Given the description of an element on the screen output the (x, y) to click on. 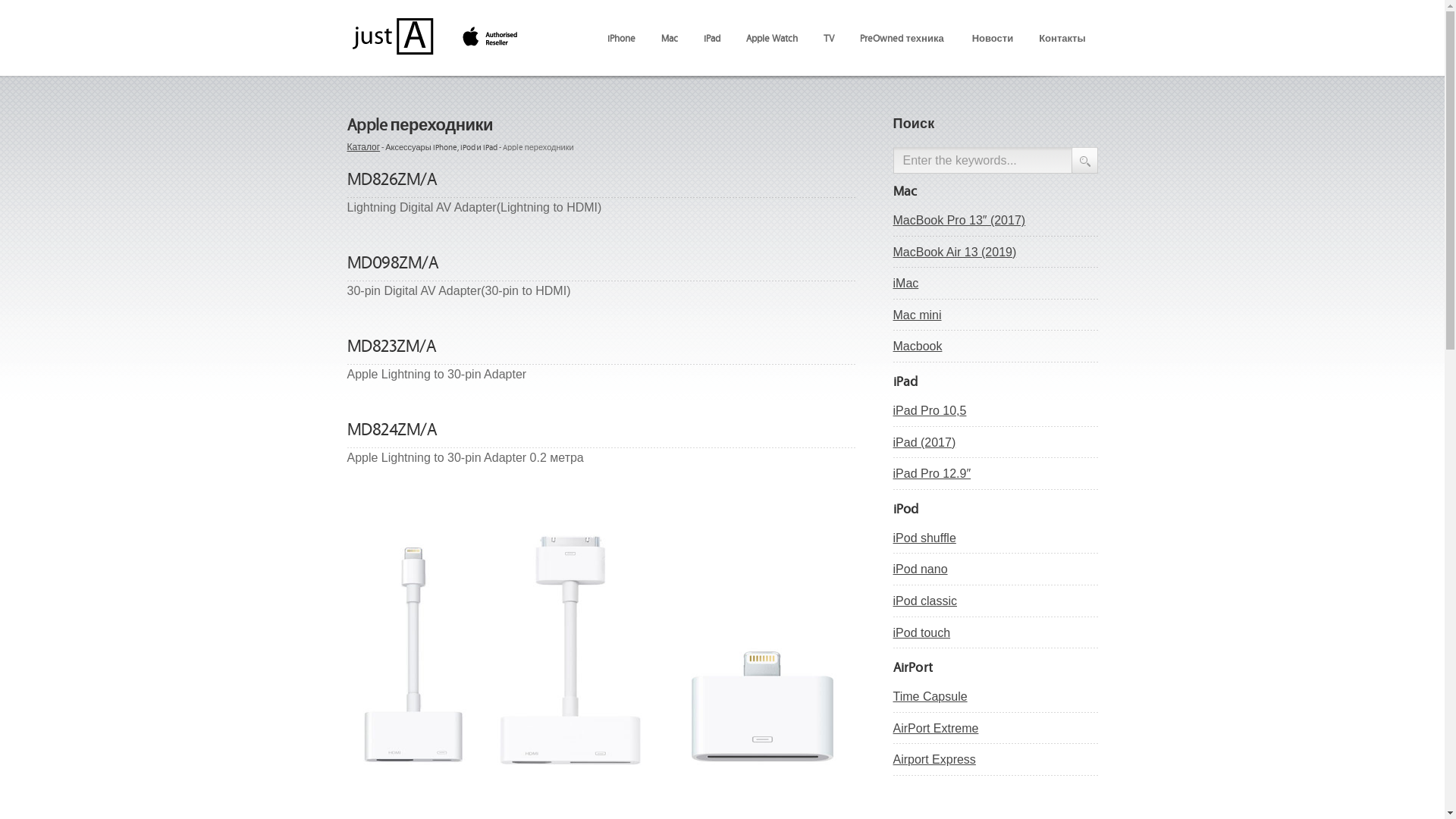
Time Capsule Element type: text (995, 696)
MacBook Air 13 (2019) Element type: text (995, 252)
iPod classic Element type: text (995, 601)
iPod nano Element type: text (995, 569)
iPad Pro 10,5 Element type: text (995, 410)
iPad (2017) Element type: text (995, 442)
iPod shuffle Element type: text (995, 538)
iPod touch Element type: text (995, 633)
TV Element type: text (828, 37)
Mac mini Element type: text (995, 315)
iMac Element type: text (995, 283)
justA Element type: hover (434, 24)
AirPort Extreme Element type: text (995, 728)
iPhone Element type: text (621, 37)
Macbook Element type: text (995, 346)
iPad Element type: text (711, 37)
Mac Element type: text (669, 37)
Apple Watch Element type: text (771, 37)
Airport Express Element type: text (995, 759)
